Given the description of an element on the screen output the (x, y) to click on. 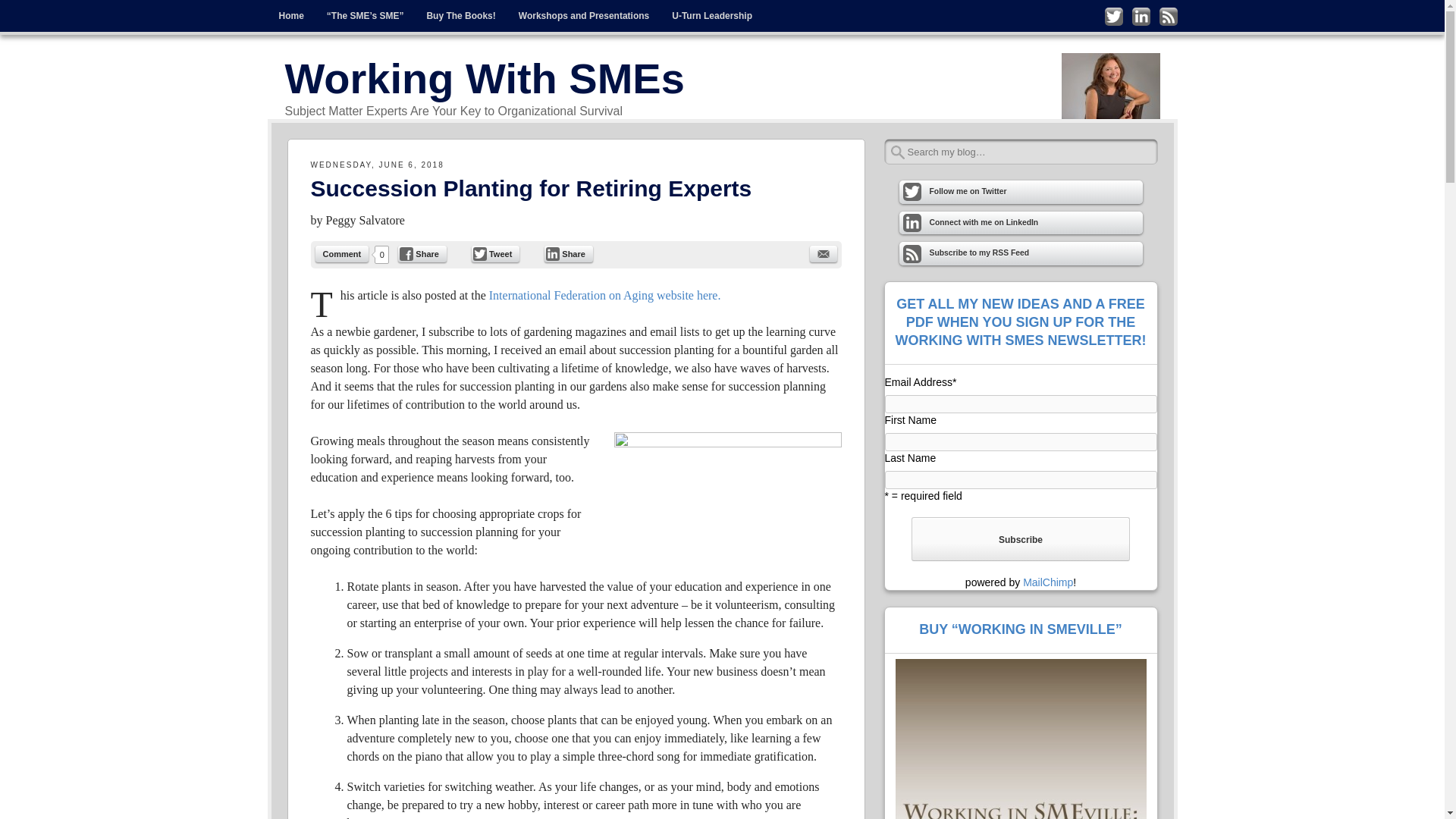
Share on Facebook (421, 253)
Share (568, 253)
International Federation on Aging website here. (604, 295)
Subscribe to my RSS Feed (1167, 16)
Peggy Salvatore (365, 219)
Skip to content (299, 10)
View all posts by Peggy Salvatore (365, 219)
Skip to content (299, 10)
Working With SMEs (484, 78)
Home (290, 15)
